Given the description of an element on the screen output the (x, y) to click on. 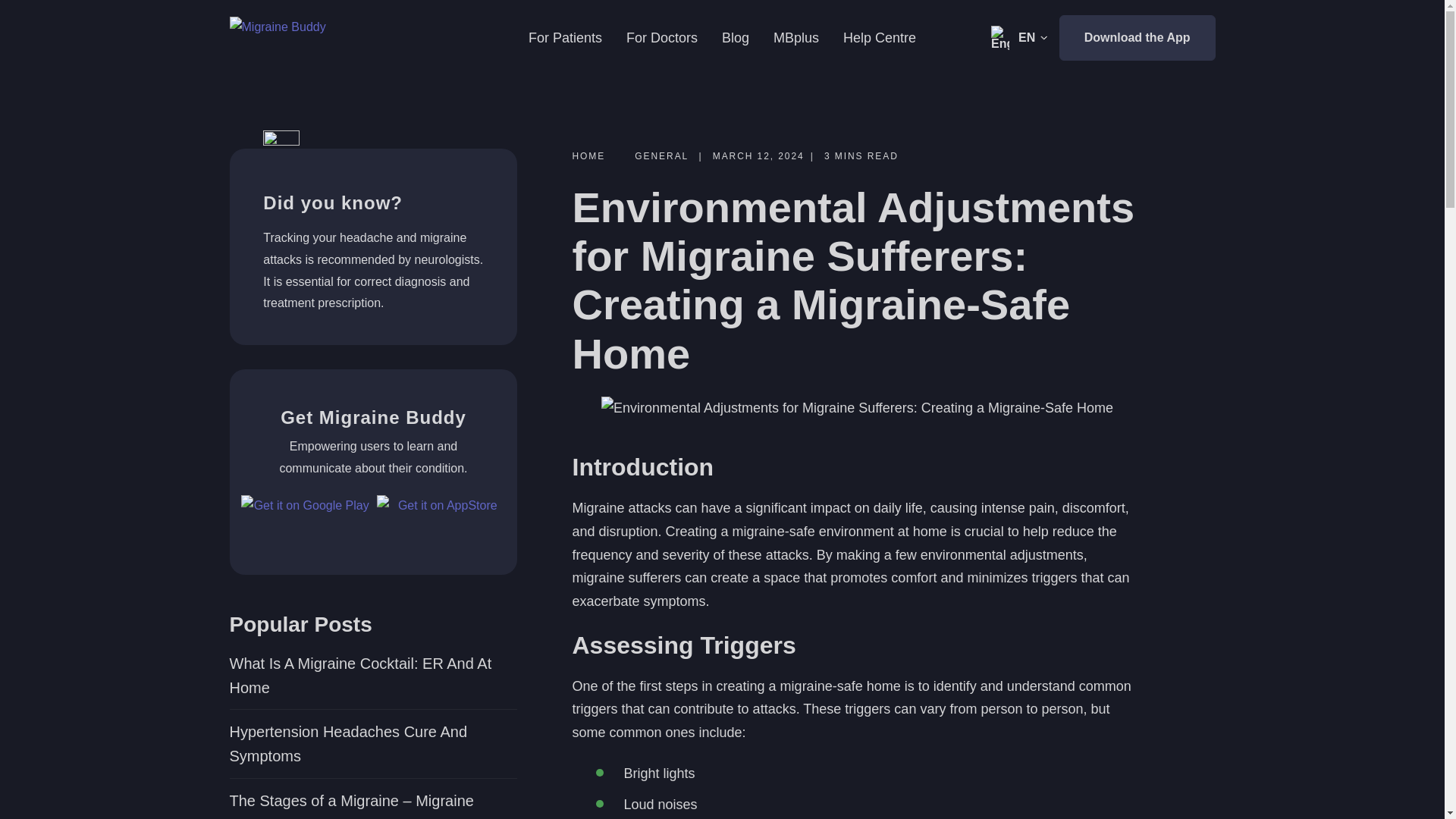
What Is A Migraine Cocktail: ER And At Home (372, 674)
Download the App (1137, 37)
Hypertension Headaches Cure And Symptoms (372, 743)
Get it on AppStore (441, 516)
Help Centre (879, 37)
MBplus (795, 37)
Get it on Google Play (305, 516)
Hypertension Headaches Cure And Symptoms (372, 743)
For Doctors (661, 37)
For Patients (565, 37)
